Given the description of an element on the screen output the (x, y) to click on. 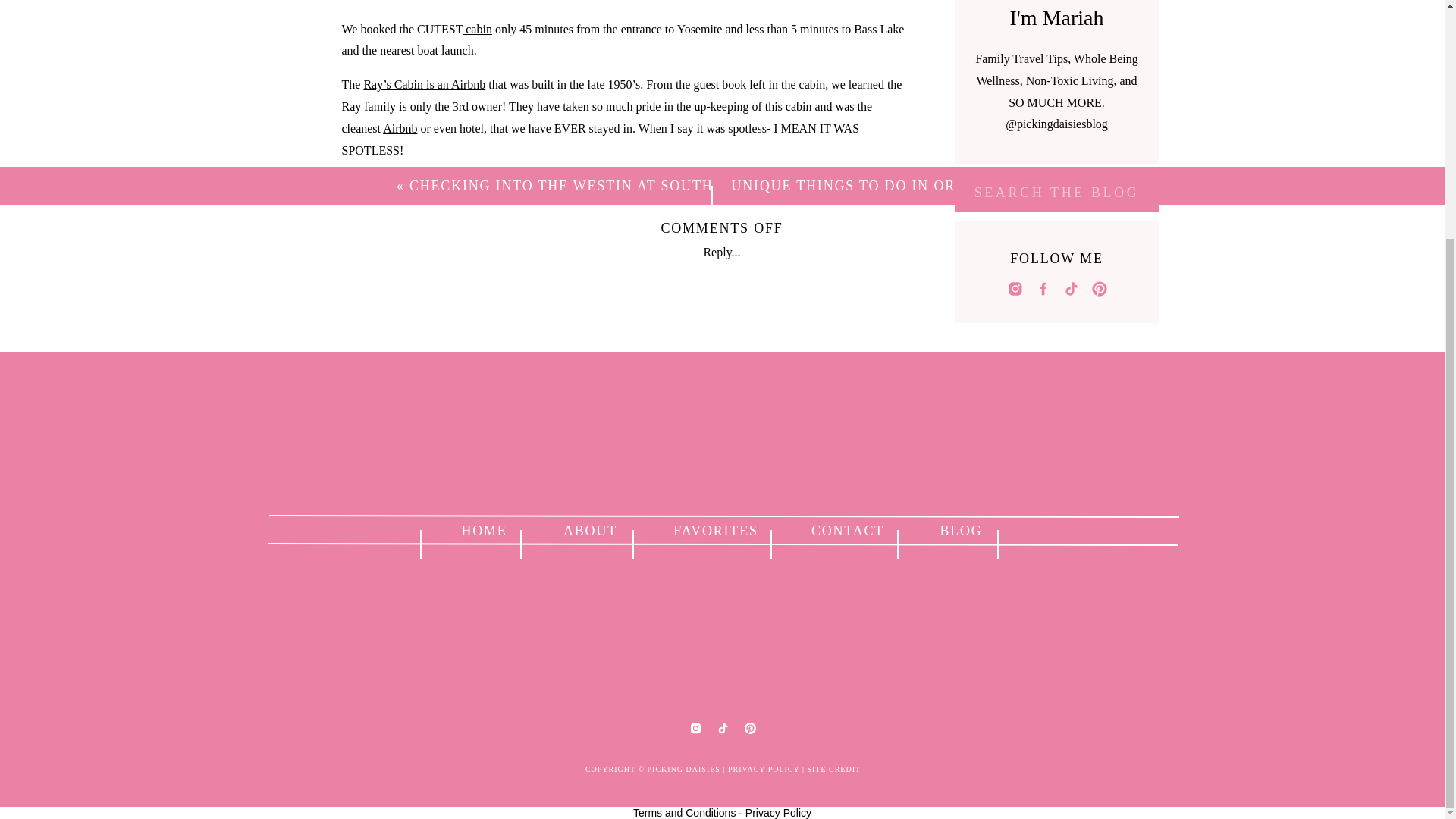
HOME (483, 529)
CONTACT (847, 529)
BLOG (961, 529)
Cattle 8 Wagyu Beef Burgers! (757, 383)
cabin (376, 262)
Airbnb (399, 128)
ABOUT (589, 529)
FAVORITES (715, 529)
cabin (477, 29)
